Given the description of an element on the screen output the (x, y) to click on. 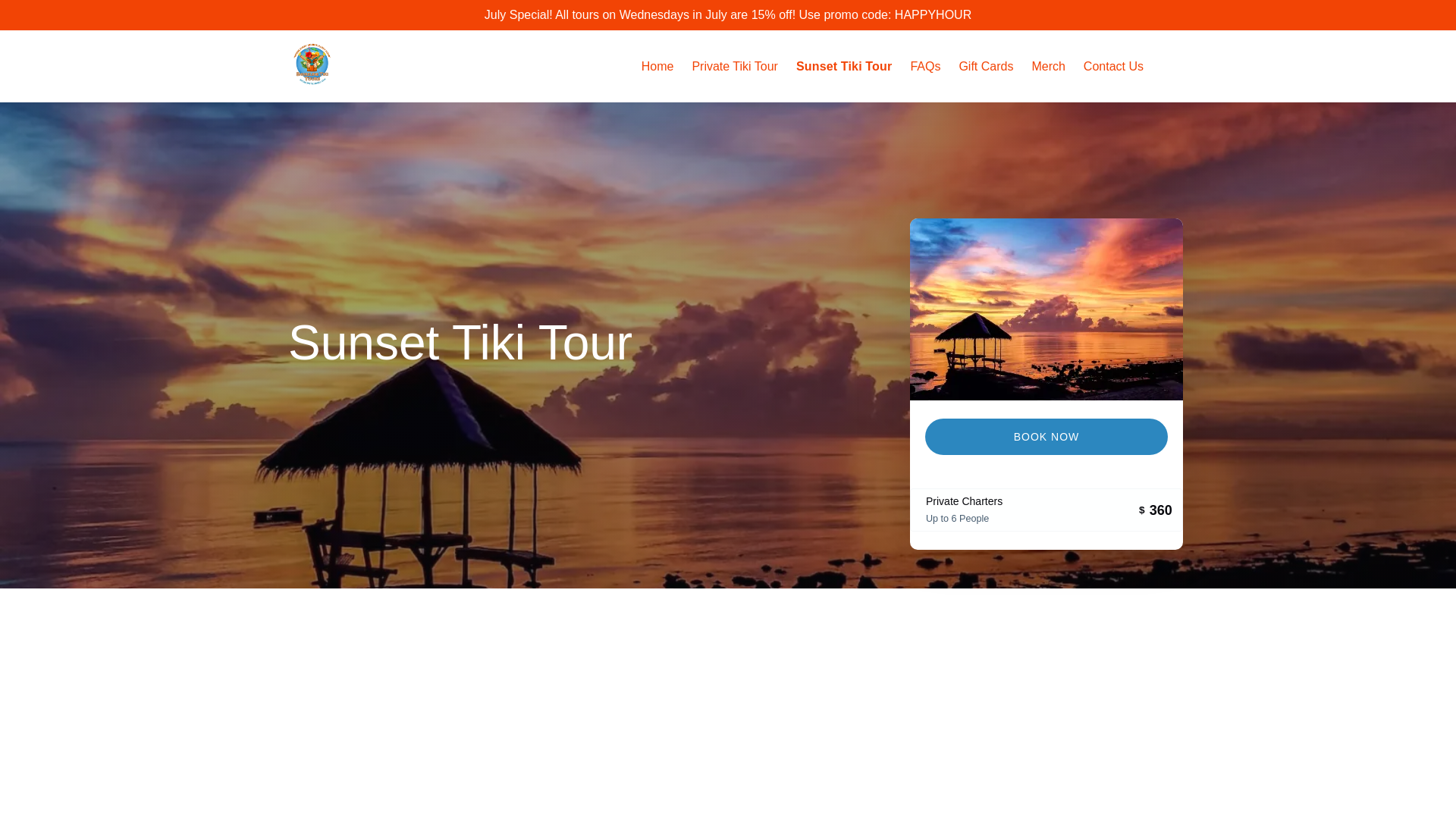
Home (656, 66)
Merch (1048, 66)
Contact Us (1113, 66)
Skip to primary navigation (77, 16)
Private Tiki Tour (734, 66)
Skip to footer (42, 16)
Gift Cards (985, 66)
FAQs (925, 66)
Skip to content (47, 16)
Sunset Tiki Tour (844, 66)
